Given the description of an element on the screen output the (x, y) to click on. 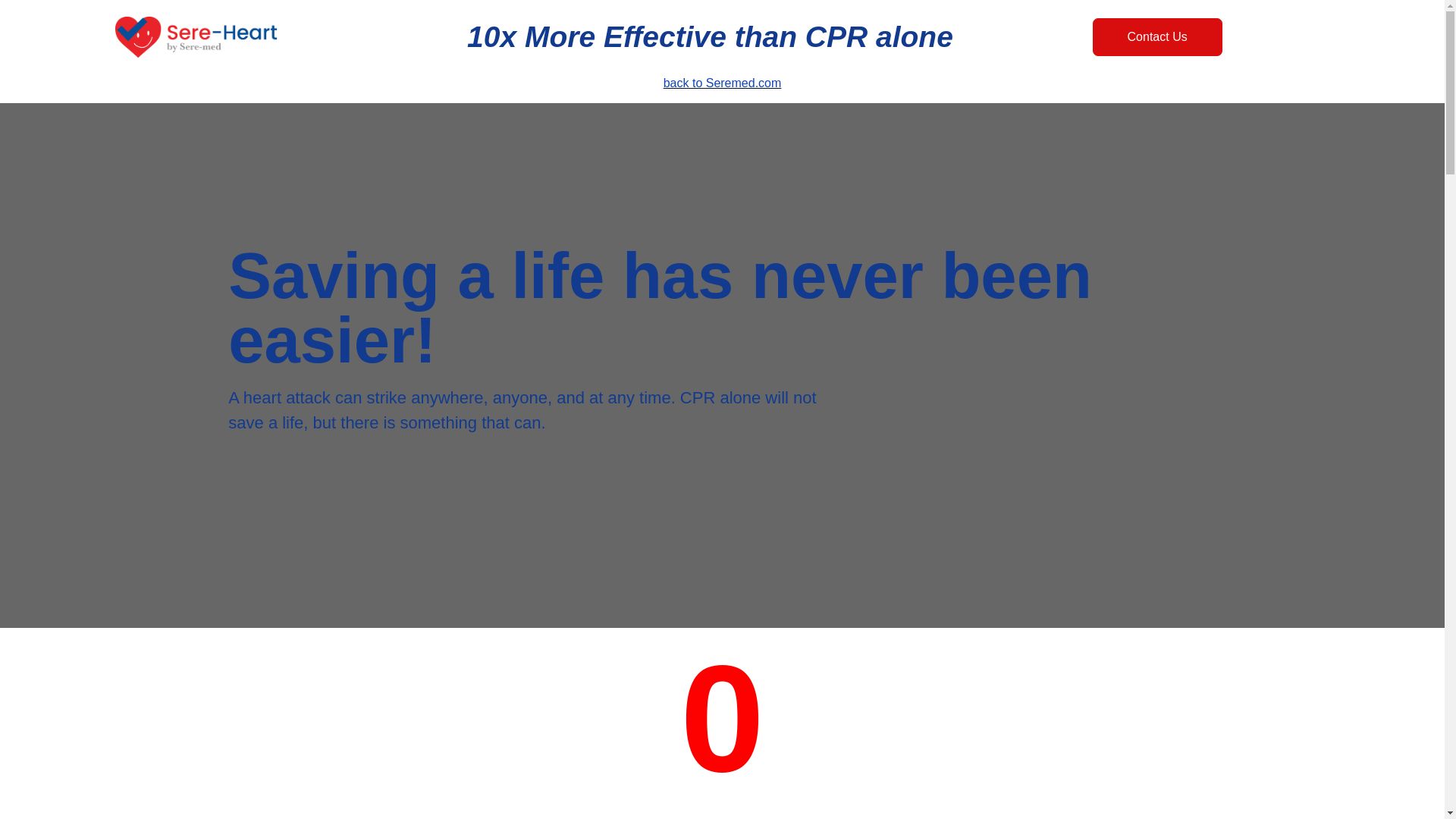
back to Seremed.com (722, 82)
Contact Us (1158, 37)
